Given the description of an element on the screen output the (x, y) to click on. 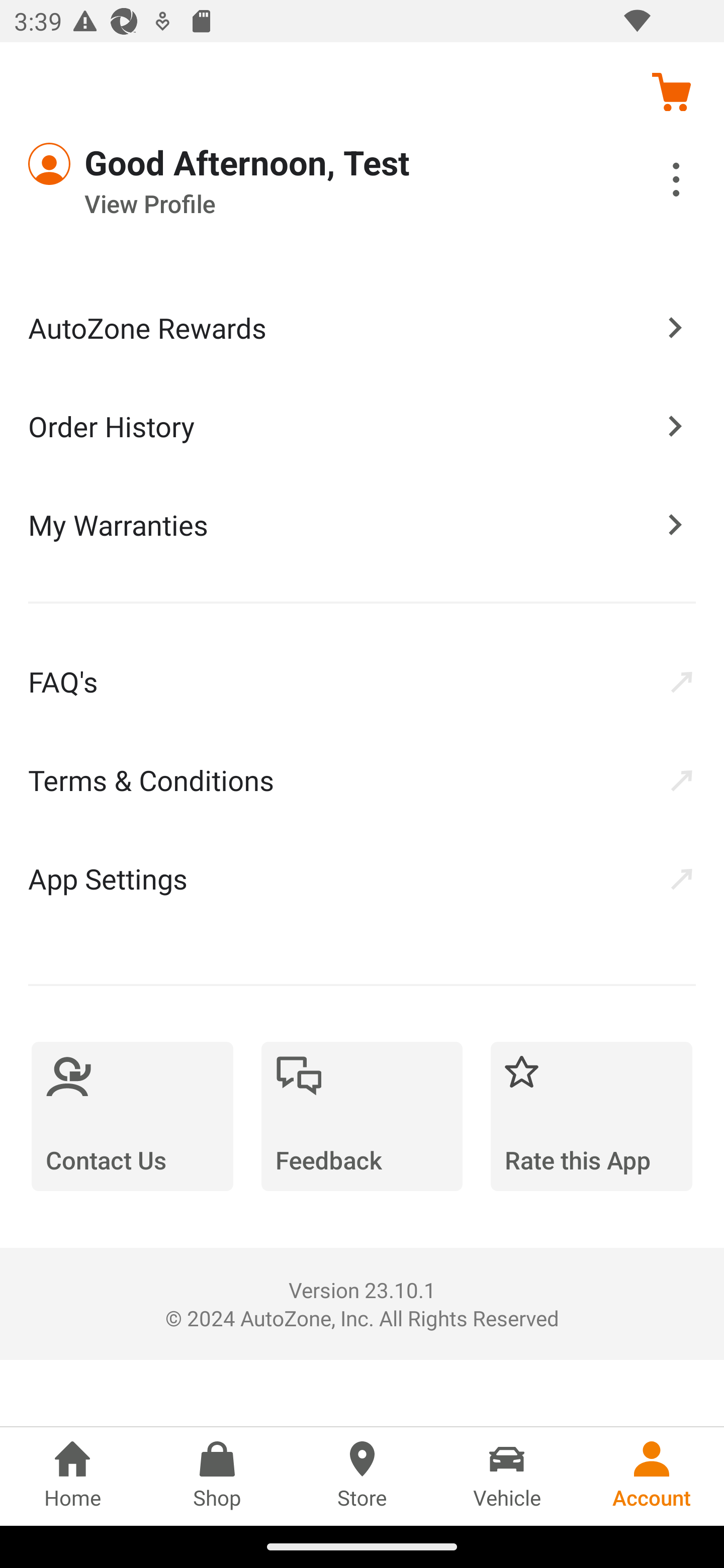
Cart, no items  (670, 91)
Good  (100, 163)
︙ (654, 182)
View Profile (306, 203)
AutoZone Rewards  (361, 327)
Order History  (361, 425)
My Warranties  (361, 524)
FAQ's  (361, 680)
Terms & Conditions  (361, 779)
App Settings  (361, 878)
Contact Us (132, 1116)
Feedback (361, 1116)
Rate this App (591, 1116)
Home (72, 1475)
Shop (216, 1475)
Store (361, 1475)
Vehicle (506, 1475)
Account (651, 1475)
